Given the description of an element on the screen output the (x, y) to click on. 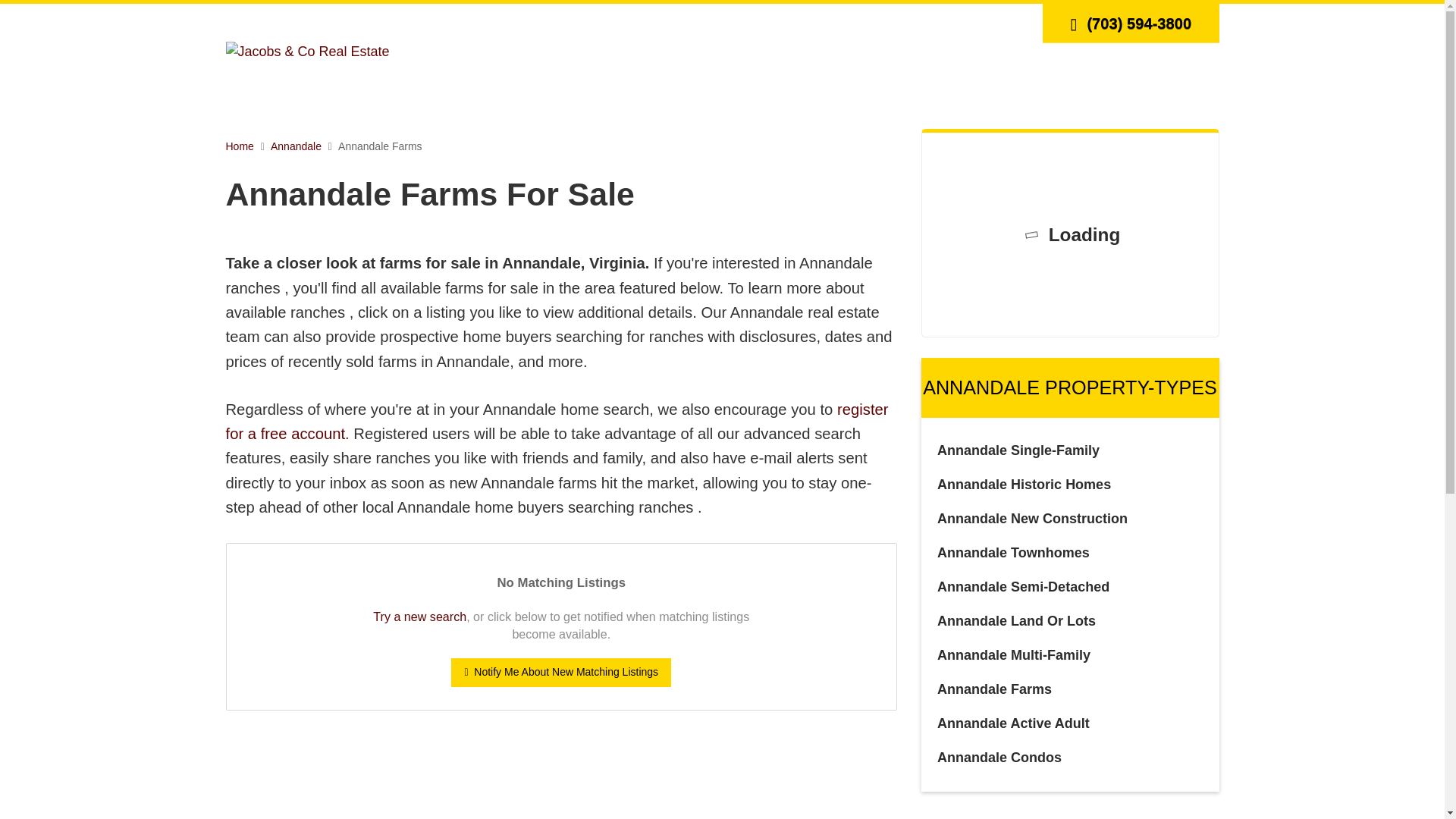
Home Page (307, 50)
Register (925, 23)
Select Language (1010, 23)
Login (876, 23)
